Given the description of an element on the screen output the (x, y) to click on. 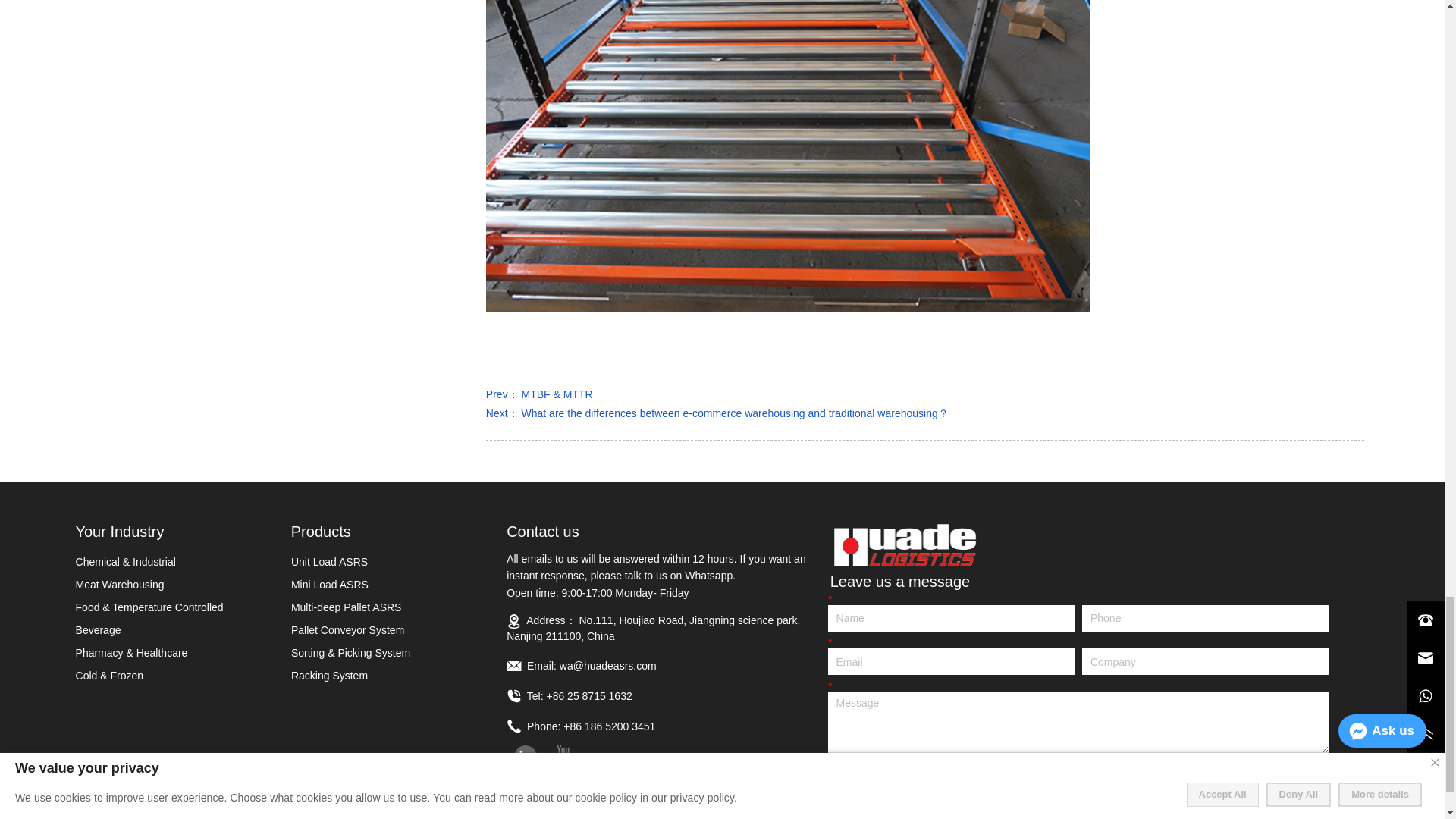
Beverage (164, 629)
Products (398, 530)
Your Industry (182, 530)
Multi-deep Pallet ASRS (378, 606)
Mini Load ASRS (378, 584)
Contact us (667, 530)
Meat Warehousing (164, 584)
Pallet Conveyor System (378, 629)
Unit Load ASRS (378, 561)
Racking System (378, 675)
